Given the description of an element on the screen output the (x, y) to click on. 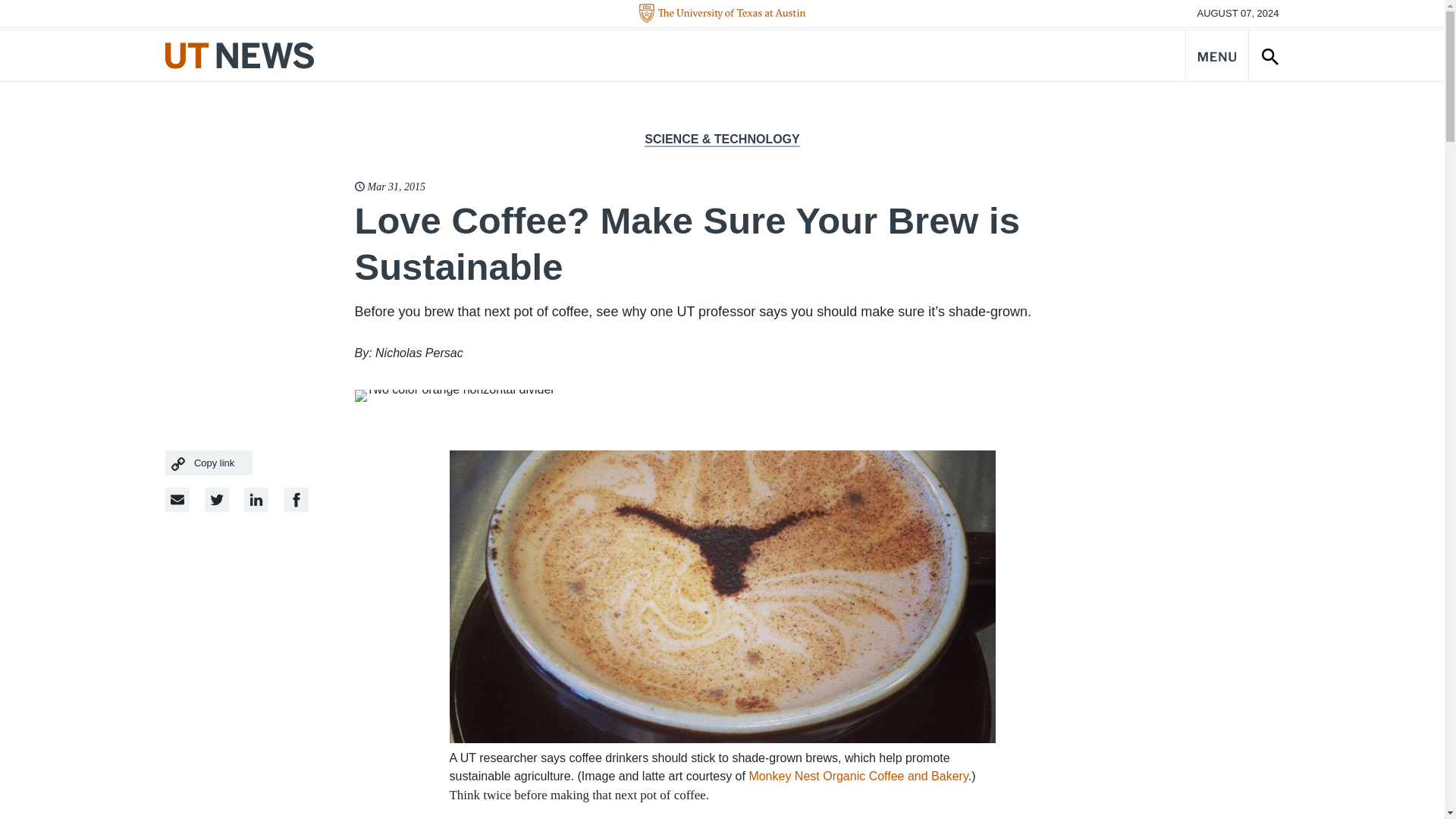
The University of Texas at Austin (722, 13)
Navigation (1216, 55)
Monkey Nest Organic Coffee and Bakery (858, 775)
Monkey Nest Organic Coffee and Bakery (858, 775)
Copy link (209, 462)
UT News (239, 55)
